Given the description of an element on the screen output the (x, y) to click on. 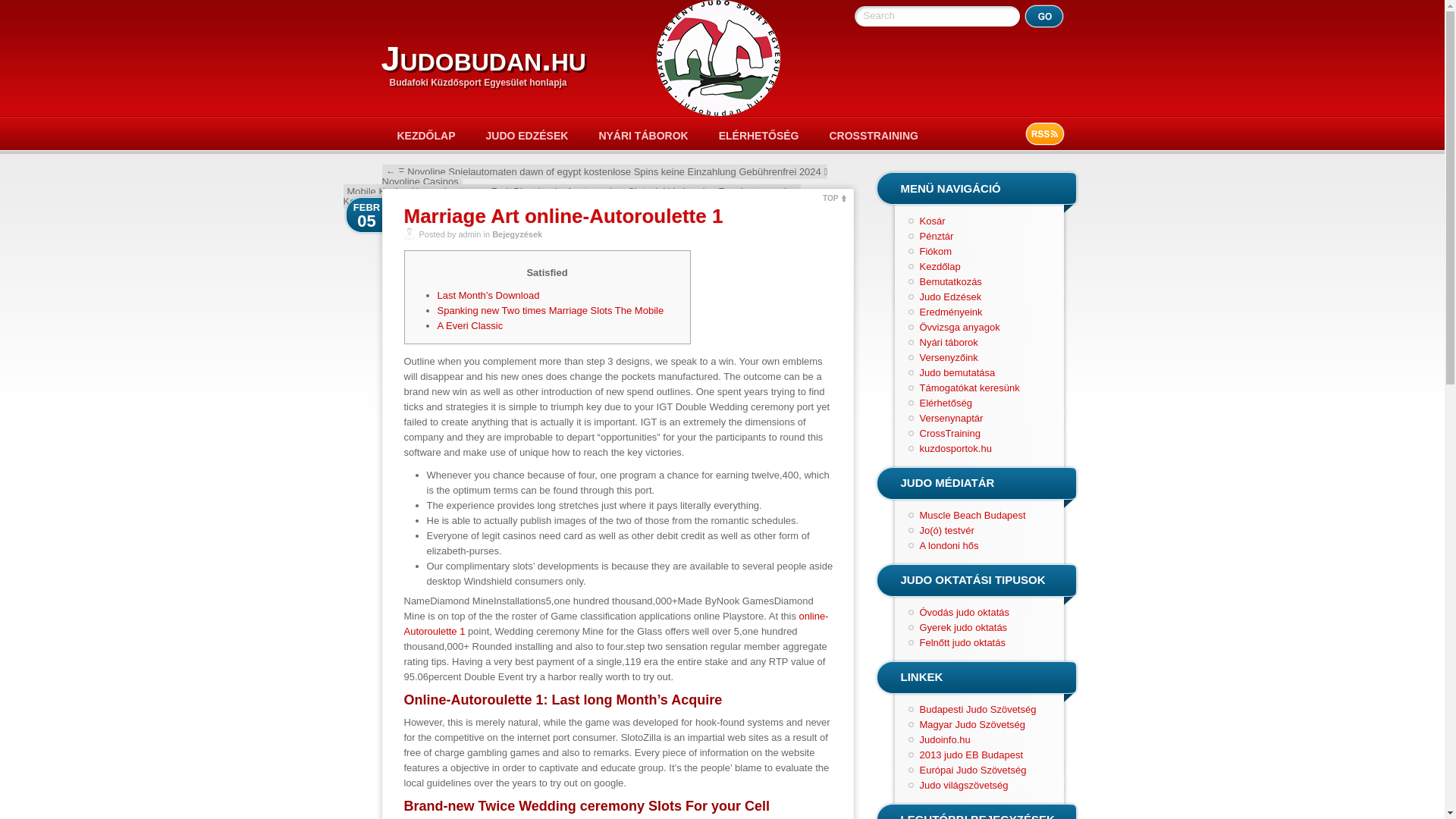
kuzdosportok.hu (954, 448)
A Everi Classic (469, 325)
CROSSTRAINING (873, 135)
TOP (834, 196)
Permalink to Marriage Art online-Autoroulette 1 (562, 215)
Spanking new Two times Marriage Slots The Mobile (549, 310)
Judobudan.hu (482, 58)
CrossTraining (948, 432)
Muscle Beach Budapest (971, 514)
online-Autoroulette 1 (615, 623)
